Given the description of an element on the screen output the (x, y) to click on. 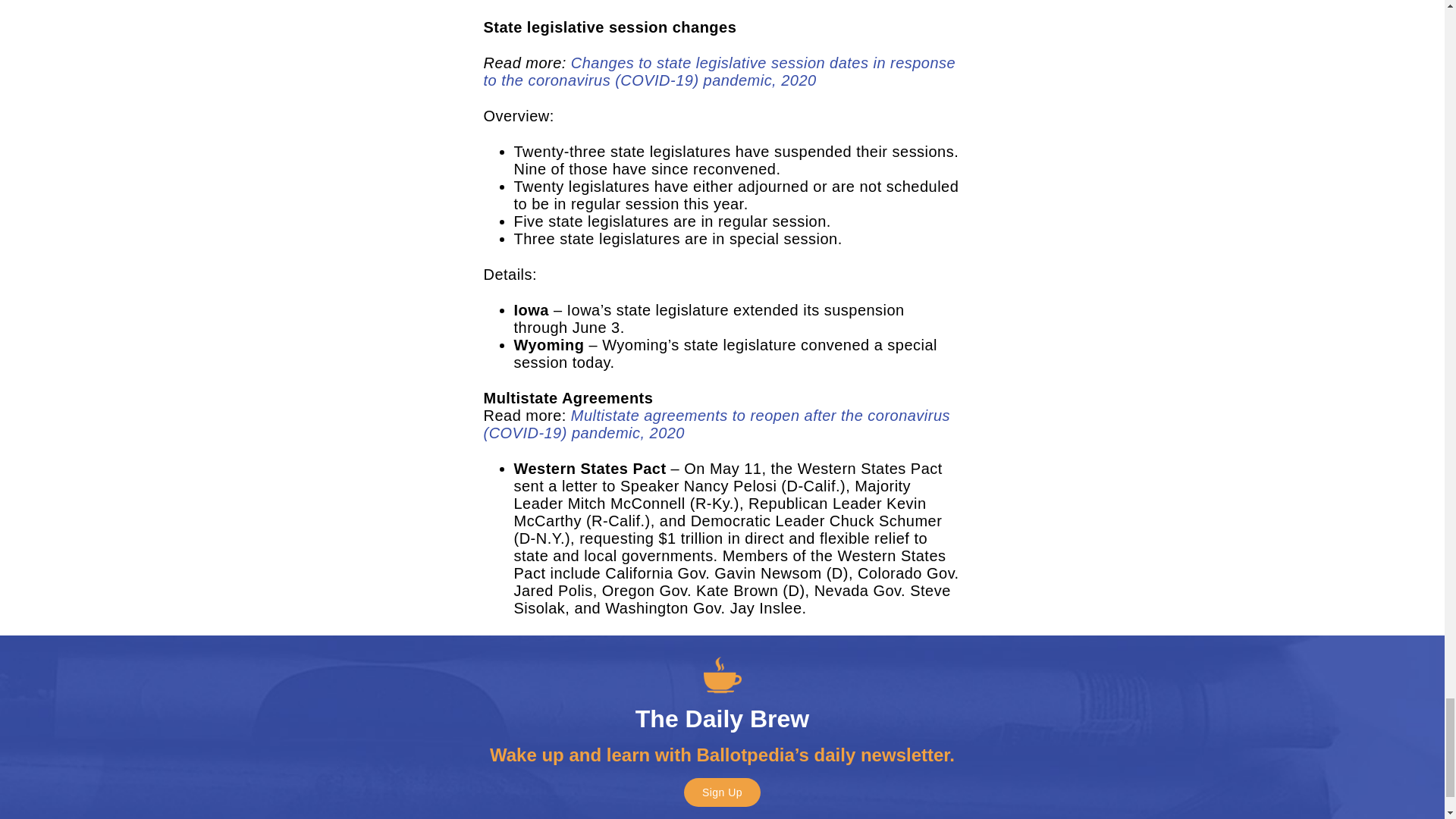
Sign Up (722, 791)
